Given the description of an element on the screen output the (x, y) to click on. 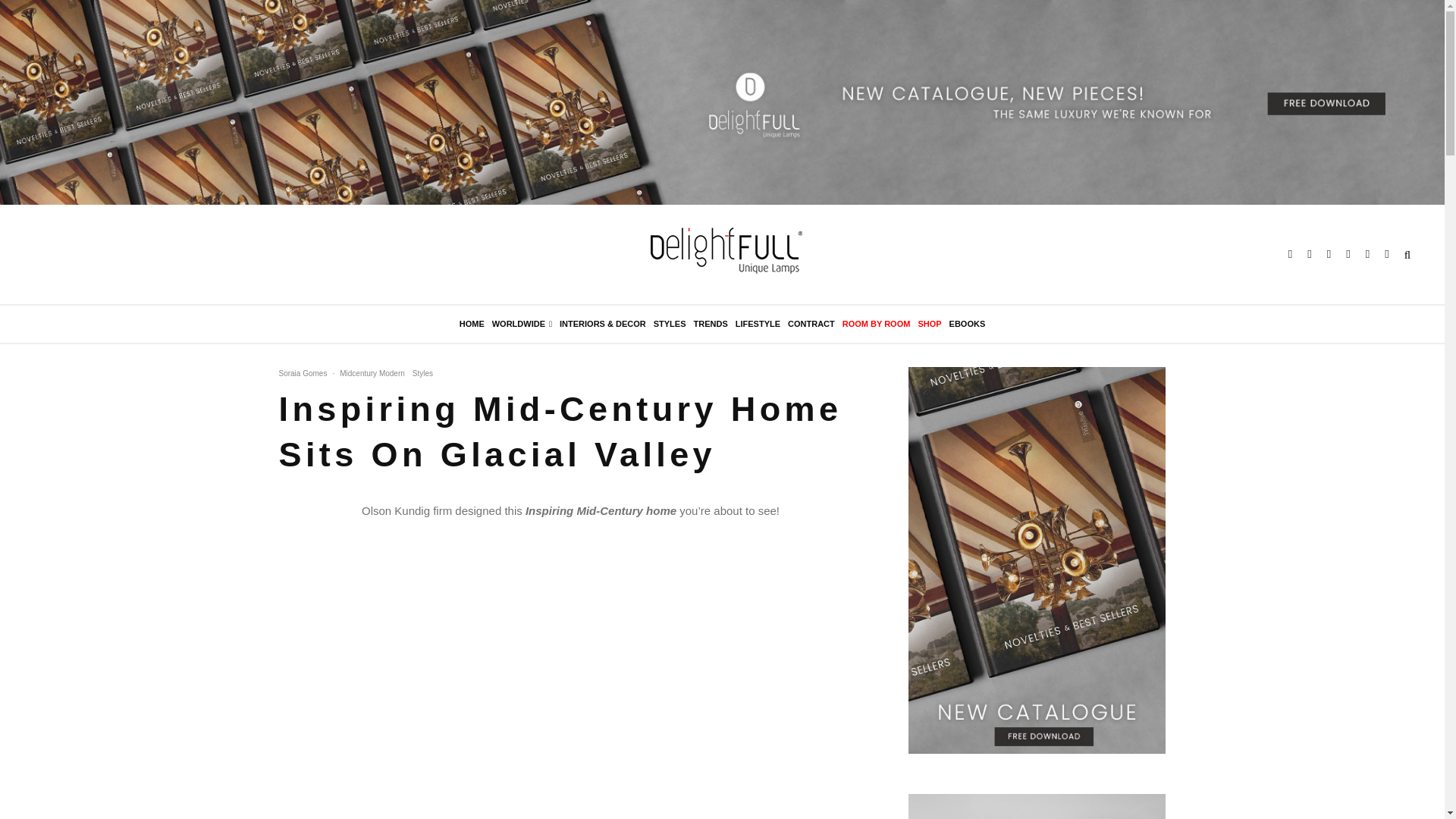
Soraia Gomes (303, 373)
TRENDS (711, 324)
EBOOKS (967, 324)
STYLES (669, 324)
ROOM BY ROOM (876, 324)
Midcentury Modern (371, 373)
LIFESTYLE (758, 324)
CONTRACT (811, 324)
WORLDWIDE (521, 324)
Styles (422, 373)
